Given the description of an element on the screen output the (x, y) to click on. 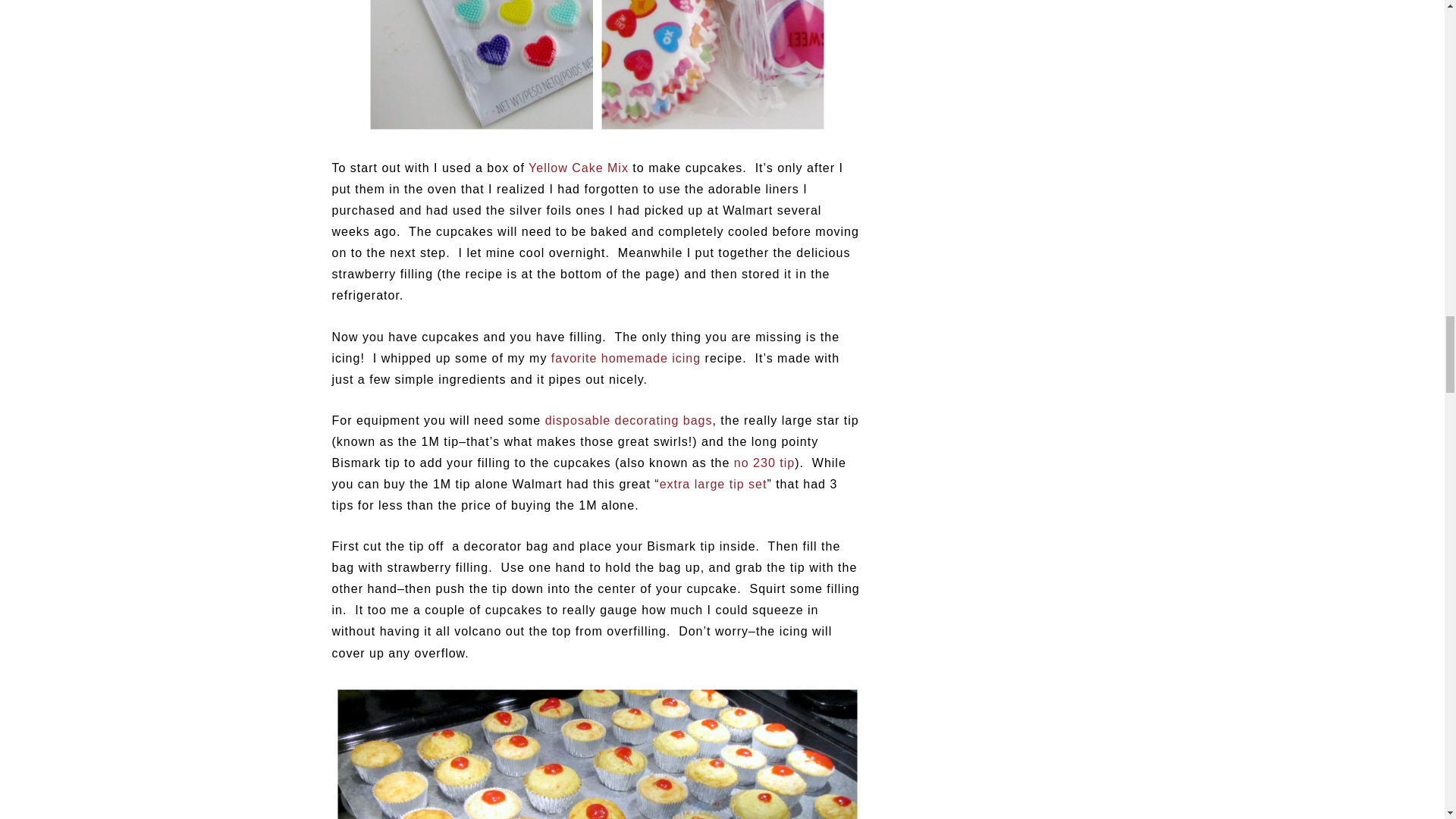
Yellow Cake Mix (578, 167)
extra large tip set (713, 483)
favorite homemade icing (625, 358)
no 230 tip (763, 462)
disposable decorating bags (628, 420)
